Given the description of an element on the screen output the (x, y) to click on. 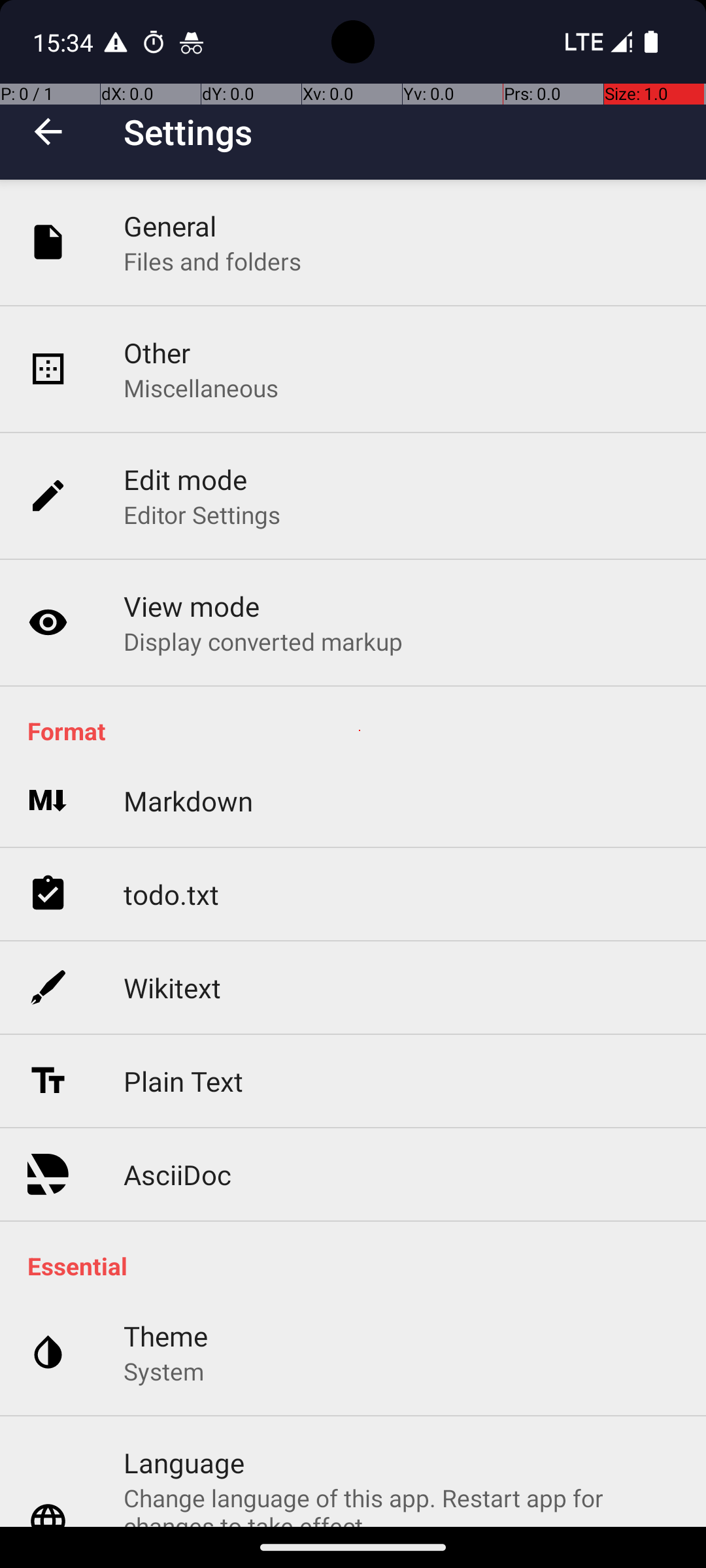
Essential Element type: android.widget.TextView (359, 1265)
General Element type: android.widget.TextView (170, 225)
Files and folders Element type: android.widget.TextView (212, 260)
Other Element type: android.widget.TextView (156, 352)
Miscellaneous Element type: android.widget.TextView (200, 387)
Editor Settings Element type: android.widget.TextView (202, 514)
Display converted markup Element type: android.widget.TextView (263, 640)
todo.txt Element type: android.widget.TextView (170, 893)
Plain Text Element type: android.widget.TextView (183, 1080)
AsciiDoc Element type: android.widget.TextView (177, 1173)
Theme Element type: android.widget.TextView (165, 1335)
System Element type: android.widget.TextView (163, 1370)
Language Element type: android.widget.TextView (183, 1462)
Change language of this app. Restart app for changes to take effect

English (English, United States) Element type: android.widget.TextView (400, 1503)
